Given the description of an element on the screen output the (x, y) to click on. 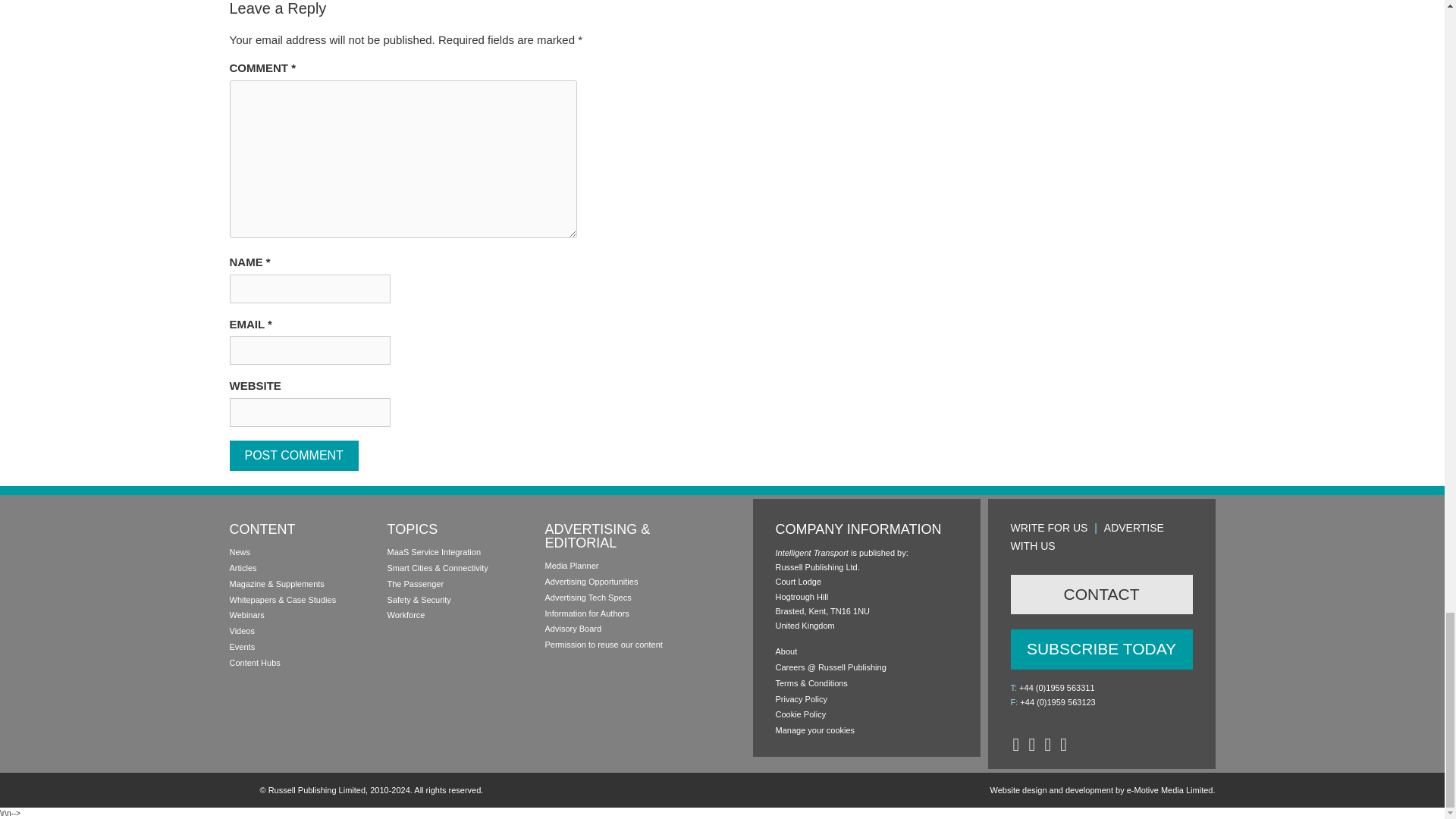
Post Comment (293, 455)
